Given the description of an element on the screen output the (x, y) to click on. 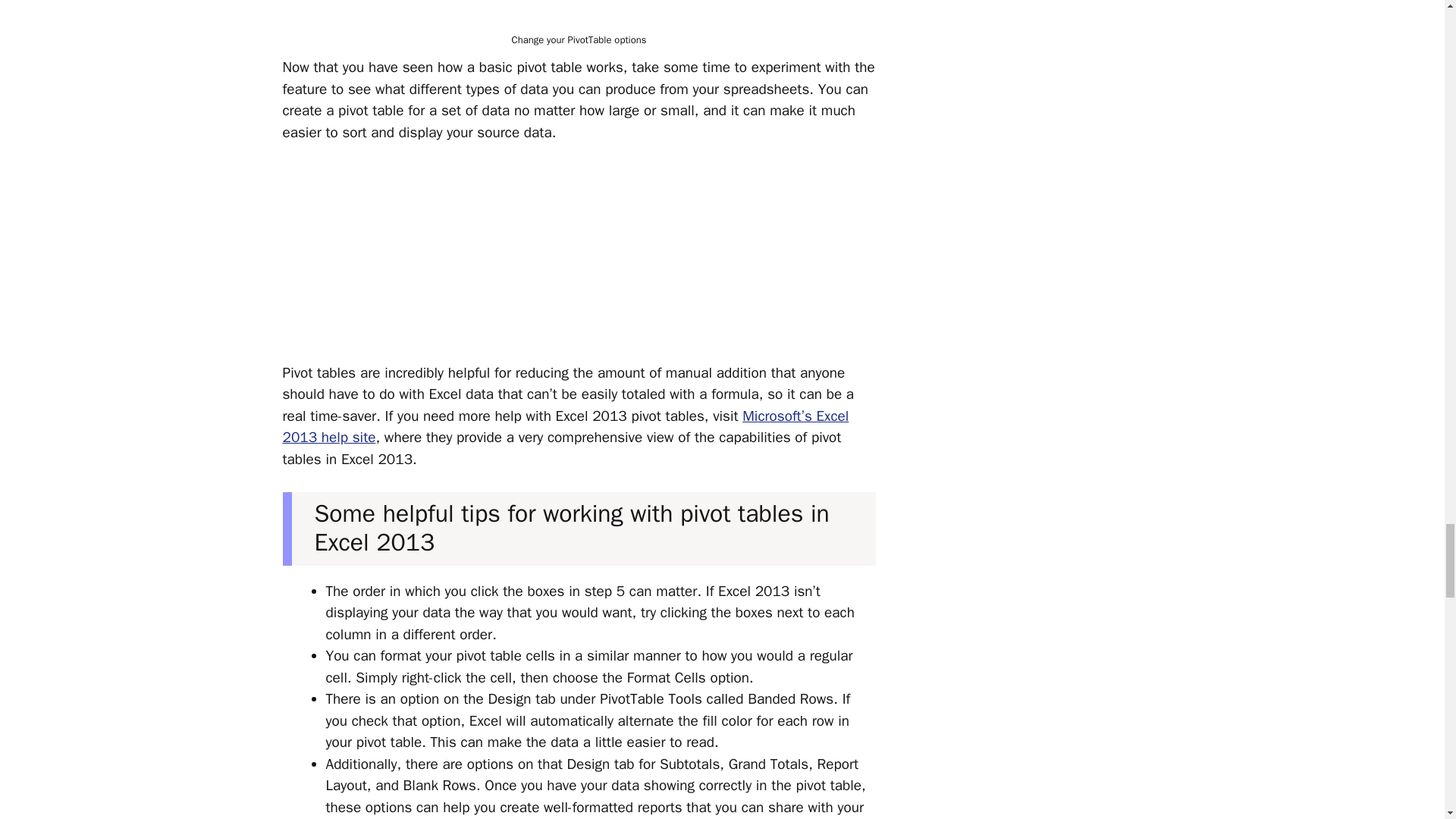
How to Create a Pivot Table in Excel 2013 6 (579, 13)
